Given the description of an element on the screen output the (x, y) to click on. 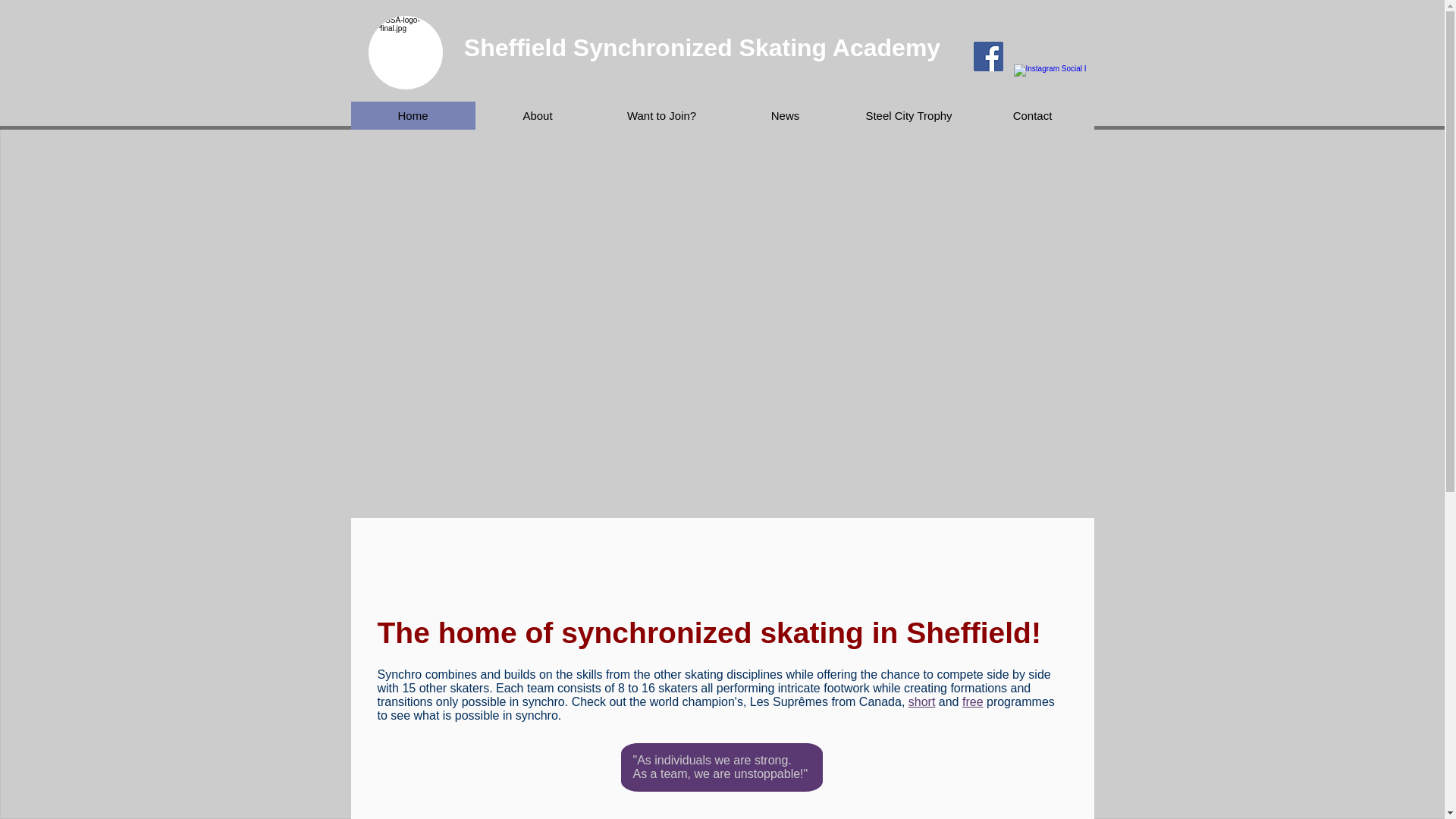
Want to Join? (660, 115)
News (785, 115)
Steel City Trophy (907, 115)
short (922, 701)
Home (412, 115)
free (973, 701)
Contact (1032, 115)
